Given the description of an element on the screen output the (x, y) to click on. 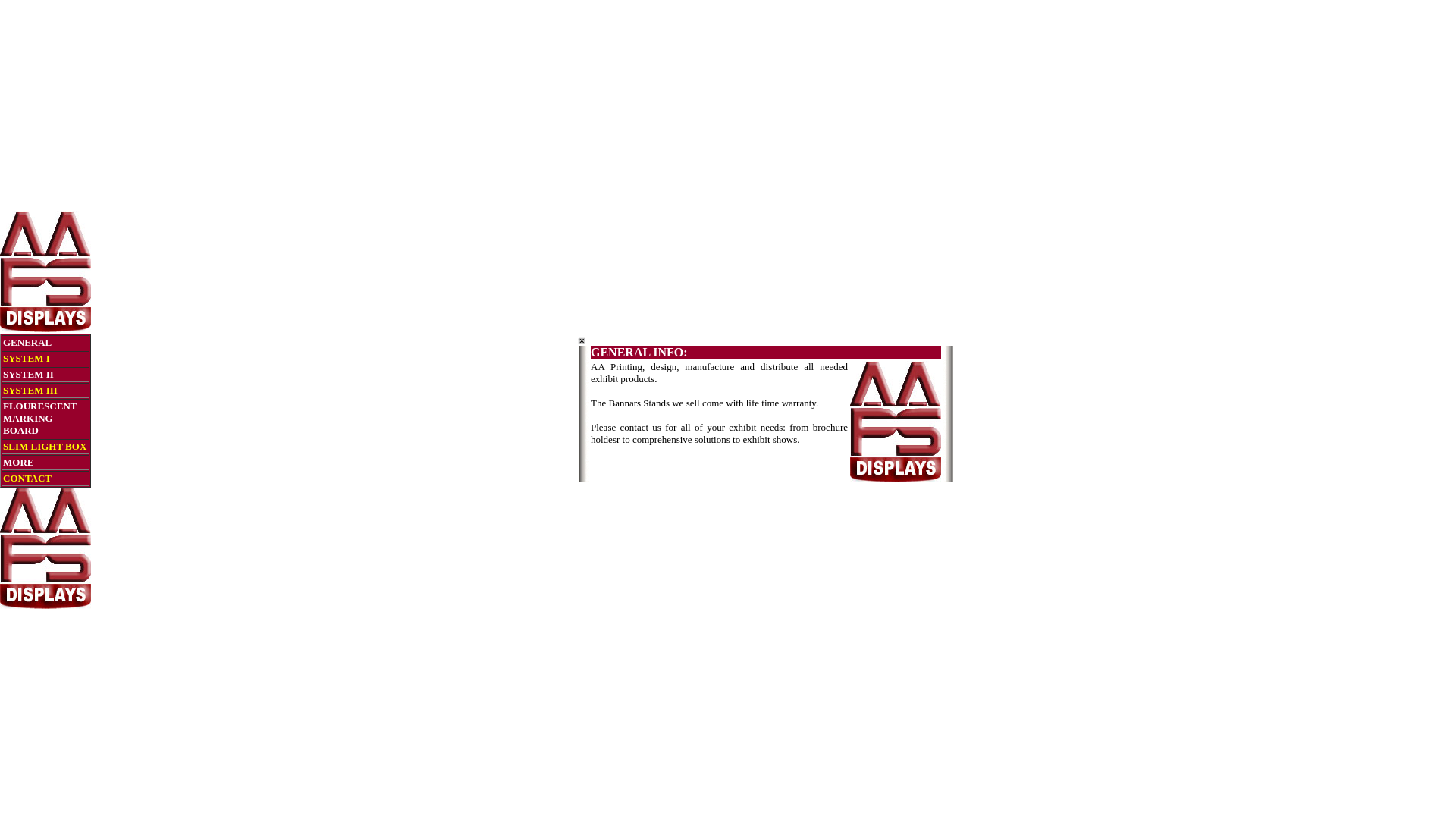
SYSTEM I Element type: text (26, 356)
MORE Element type: text (18, 461)
FLOURESCENT MARKING BOARD Element type: text (40, 417)
SYSTEM II Element type: text (28, 373)
SYSTEM III Element type: text (30, 388)
SLIM LIGHT BOX Element type: text (44, 444)
GENERAL Element type: text (27, 341)
CONTACT Element type: text (27, 476)
